Given the description of an element on the screen output the (x, y) to click on. 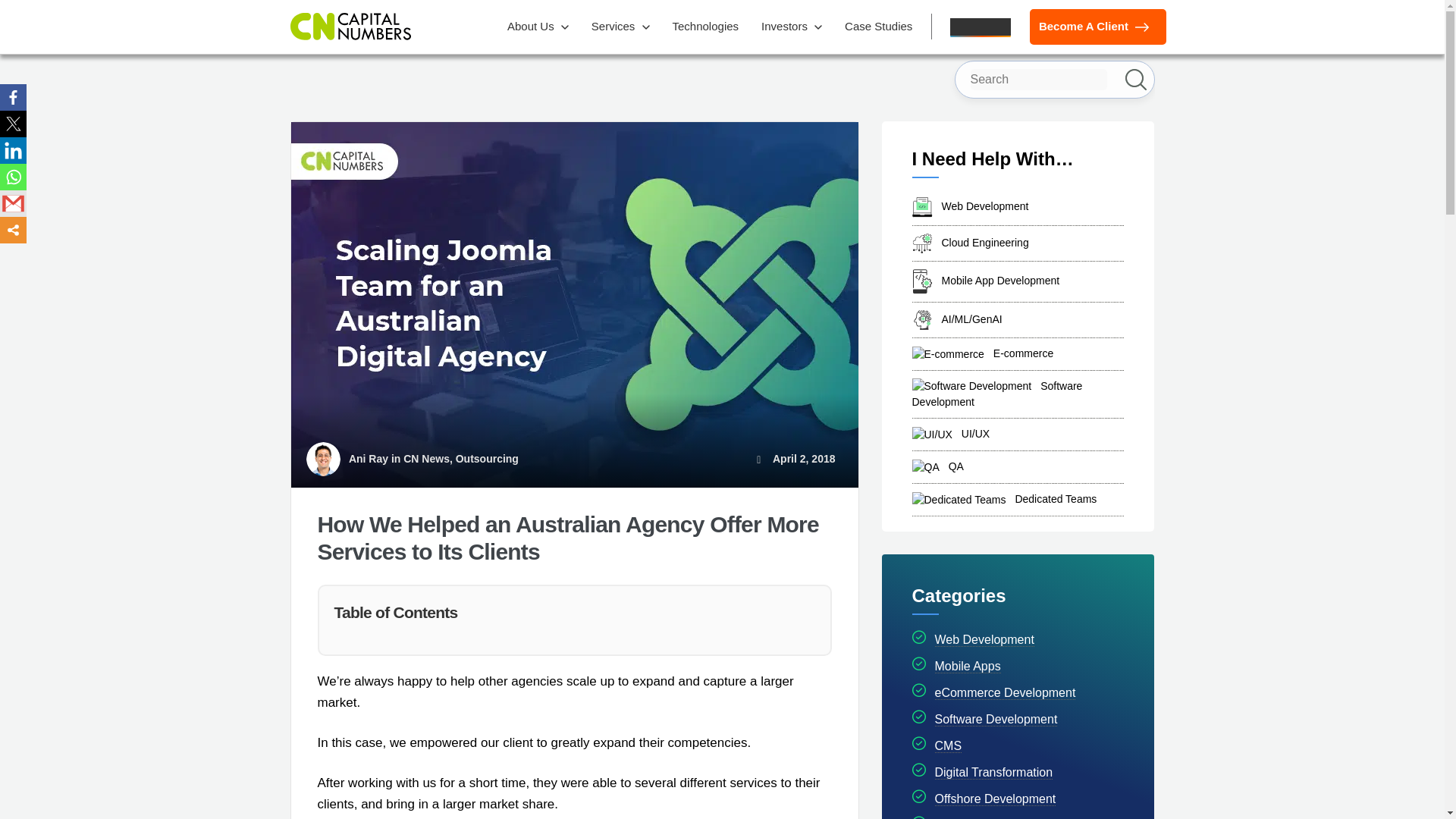
Investors (791, 27)
Twitter (13, 123)
Facebook (13, 97)
Whatsapp (13, 176)
Case Studies (878, 27)
Technologies (704, 27)
Services (620, 27)
Become A Client (1097, 27)
Linkedin (13, 150)
More (13, 230)
Contact Us (980, 27)
Google Gmail (13, 203)
